Given the description of an element on the screen output the (x, y) to click on. 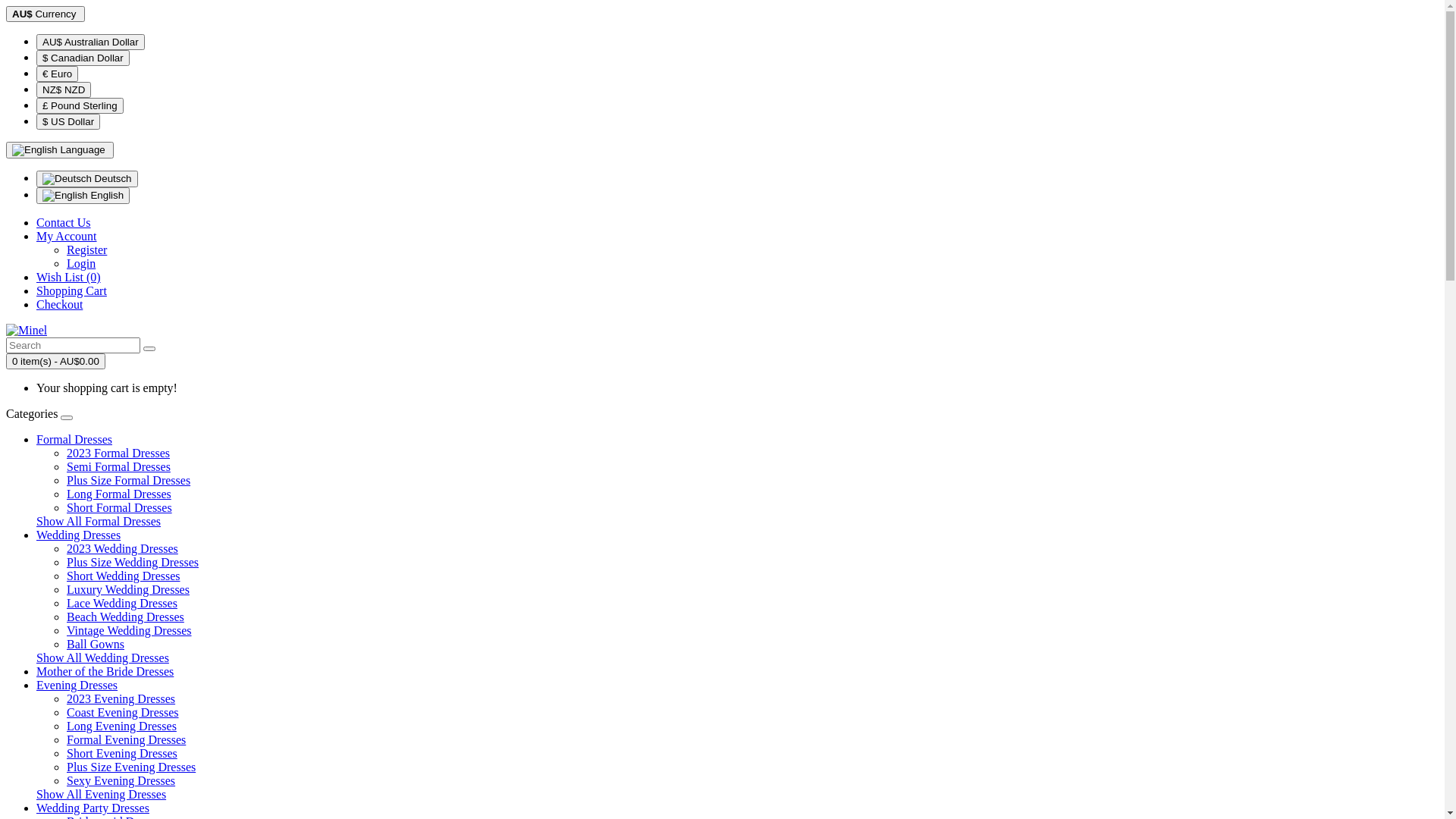
0 item(s) - AU$0.00 Element type: text (55, 361)
2023 Evening Dresses Element type: text (120, 698)
English Element type: hover (64, 195)
Beach Wedding Dresses Element type: text (125, 616)
Coast Evening Dresses Element type: text (122, 712)
AU$ Australian Dollar Element type: text (90, 42)
Contact Us Element type: text (63, 222)
Luxury Wedding Dresses Element type: text (127, 589)
Language  Element type: text (59, 149)
Formal Dresses Element type: text (74, 439)
Short Evening Dresses Element type: text (121, 752)
Plus Size Evening Dresses Element type: text (130, 766)
Semi Formal Dresses Element type: text (118, 466)
English Element type: hover (34, 150)
$ US Dollar Element type: text (68, 121)
Lace Wedding Dresses Element type: text (121, 602)
Deutsch Element type: text (87, 178)
Login Element type: text (80, 263)
Short Wedding Dresses Element type: text (123, 575)
Wedding Dresses Element type: text (78, 534)
My Account Element type: text (66, 235)
$ Canadian Dollar Element type: text (82, 57)
2023 Formal Dresses Element type: text (117, 452)
Evening Dresses Element type: text (76, 684)
Wedding Party Dresses Element type: text (92, 807)
Long Formal Dresses Element type: text (118, 493)
Ball Gowns Element type: text (95, 643)
Minel Element type: hover (26, 330)
Plus Size Wedding Dresses Element type: text (132, 561)
Plus Size Formal Dresses Element type: text (128, 479)
2023 Wedding Dresses Element type: text (122, 548)
Register Element type: text (86, 249)
English Element type: text (82, 195)
Vintage Wedding Dresses Element type: text (128, 630)
Show All Evening Dresses Element type: text (101, 793)
Checkout Element type: text (59, 304)
Long Evening Dresses Element type: text (121, 725)
Deutsch Element type: hover (66, 178)
AU$ Currency  Element type: text (45, 13)
NZ$ NZD Element type: text (63, 89)
Short Formal Dresses Element type: text (119, 507)
Formal Evening Dresses Element type: text (125, 739)
Wish List (0) Element type: text (68, 276)
Show All Formal Dresses Element type: text (98, 520)
Show All Wedding Dresses Element type: text (102, 657)
Mother of the Bride Dresses Element type: text (104, 671)
Sexy Evening Dresses Element type: text (120, 780)
Shopping Cart Element type: text (71, 290)
